Given the description of an element on the screen output the (x, y) to click on. 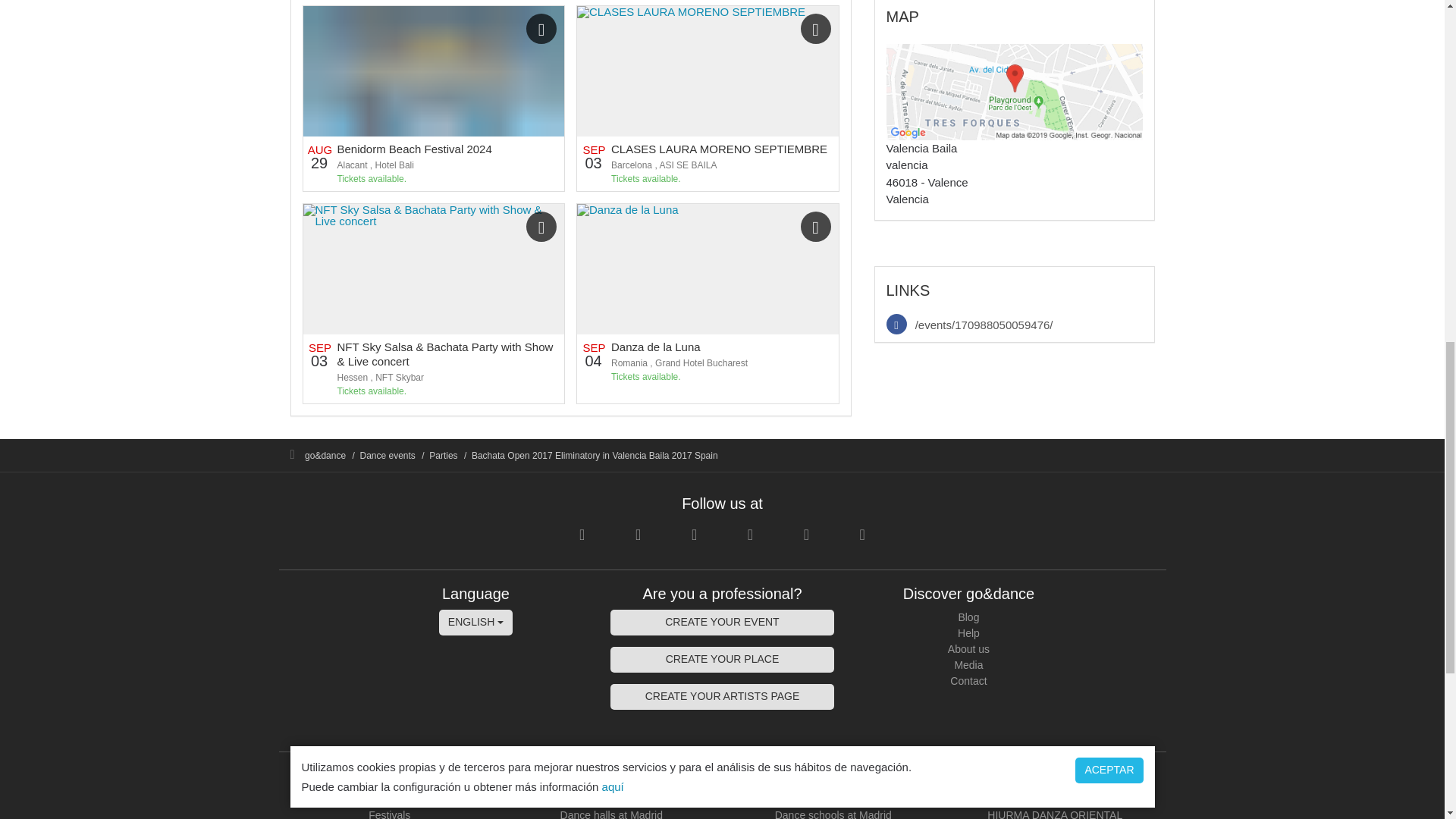
Danza de la Luna (655, 346)
CLASES LAURA MORENO SEPTIEMBRE (719, 148)
Benidorm Beach Festival 2024 (414, 148)
